Given the description of an element on the screen output the (x, y) to click on. 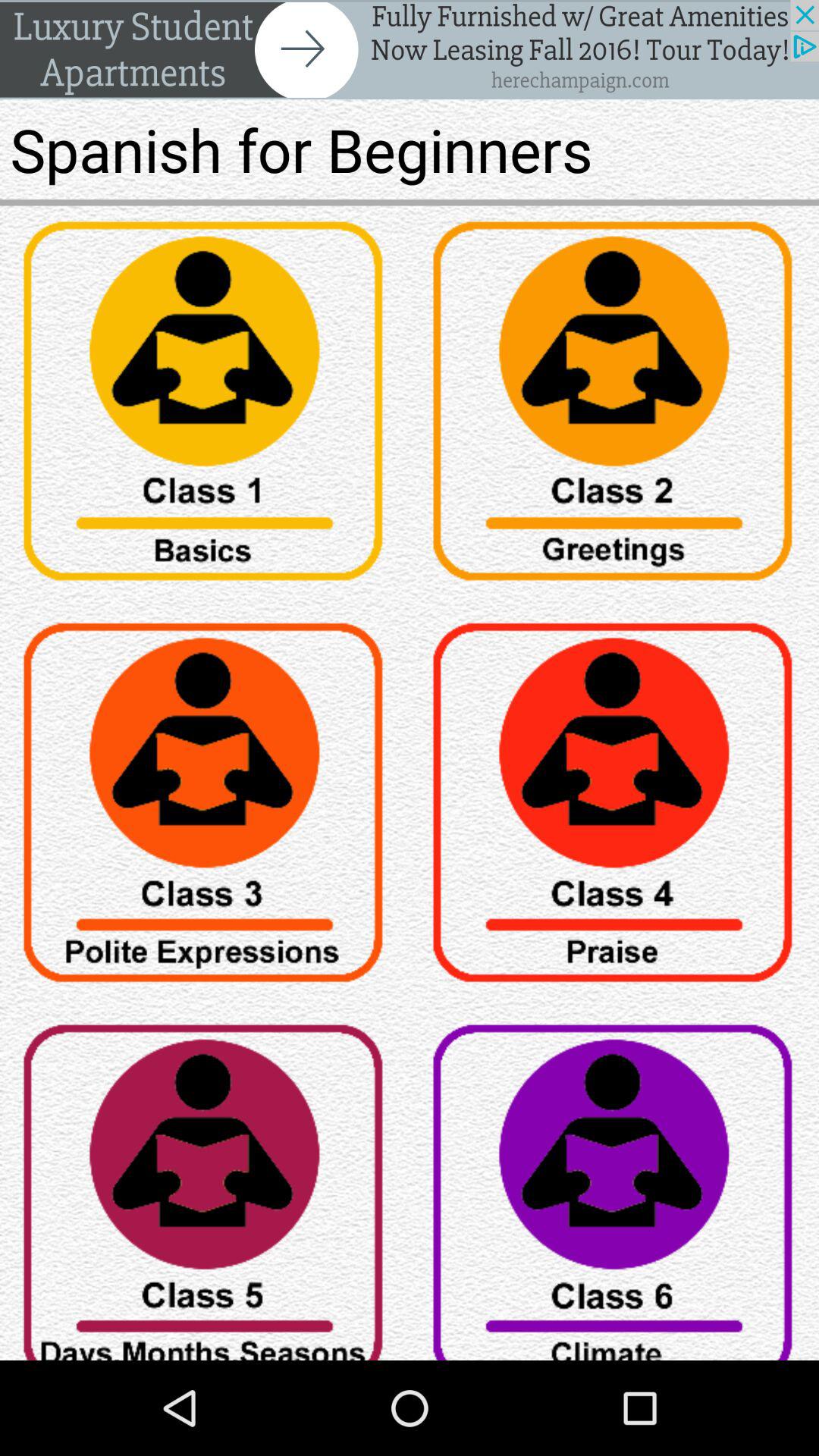
button option (204, 807)
